Given the description of an element on the screen output the (x, y) to click on. 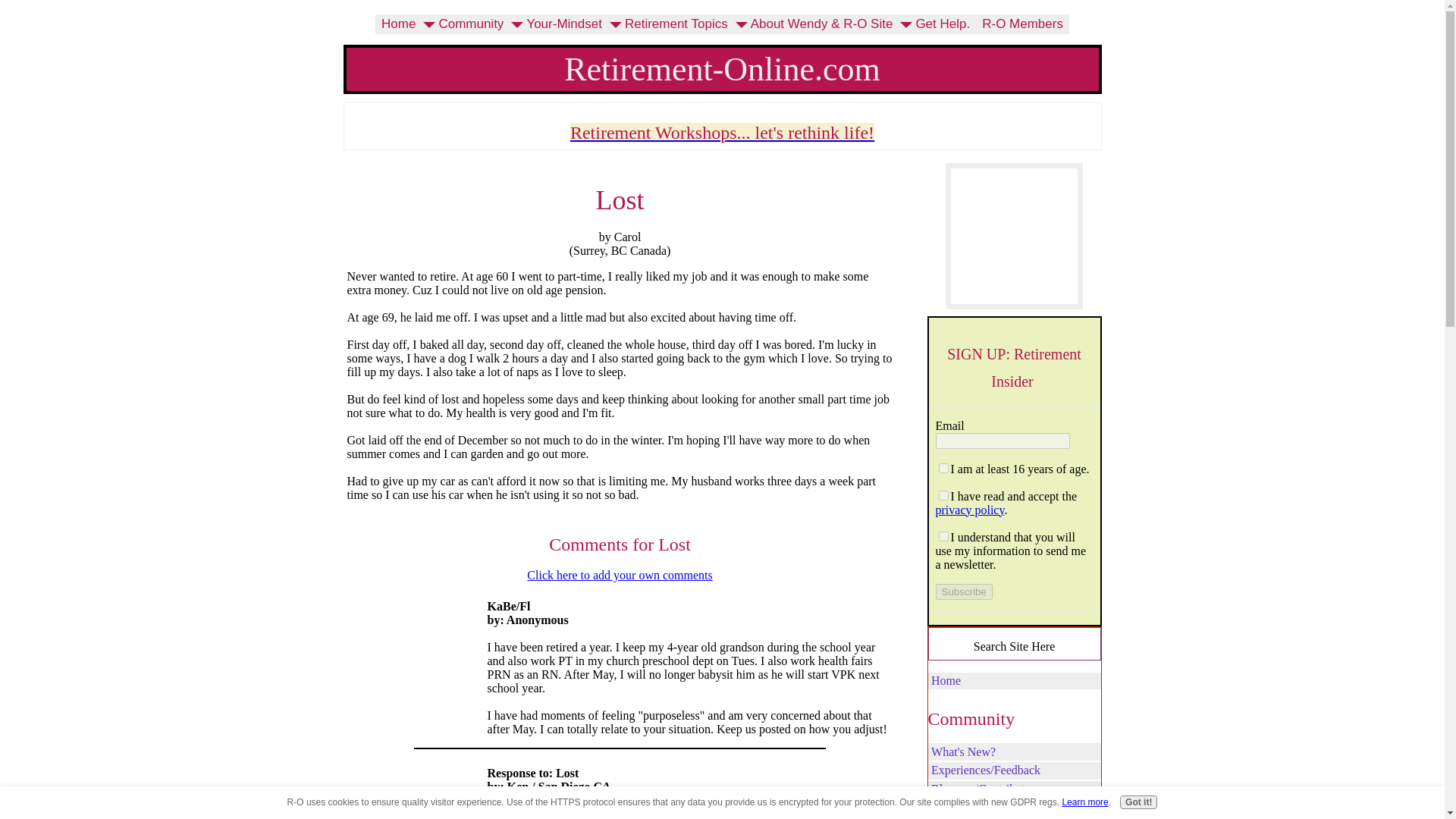
on (944, 468)
Retirement-Online.com (722, 68)
Home (398, 24)
on (944, 536)
Go to Great Retirement Advice Here from Retirees  (1013, 305)
on (944, 495)
